Given the description of an element on the screen output the (x, y) to click on. 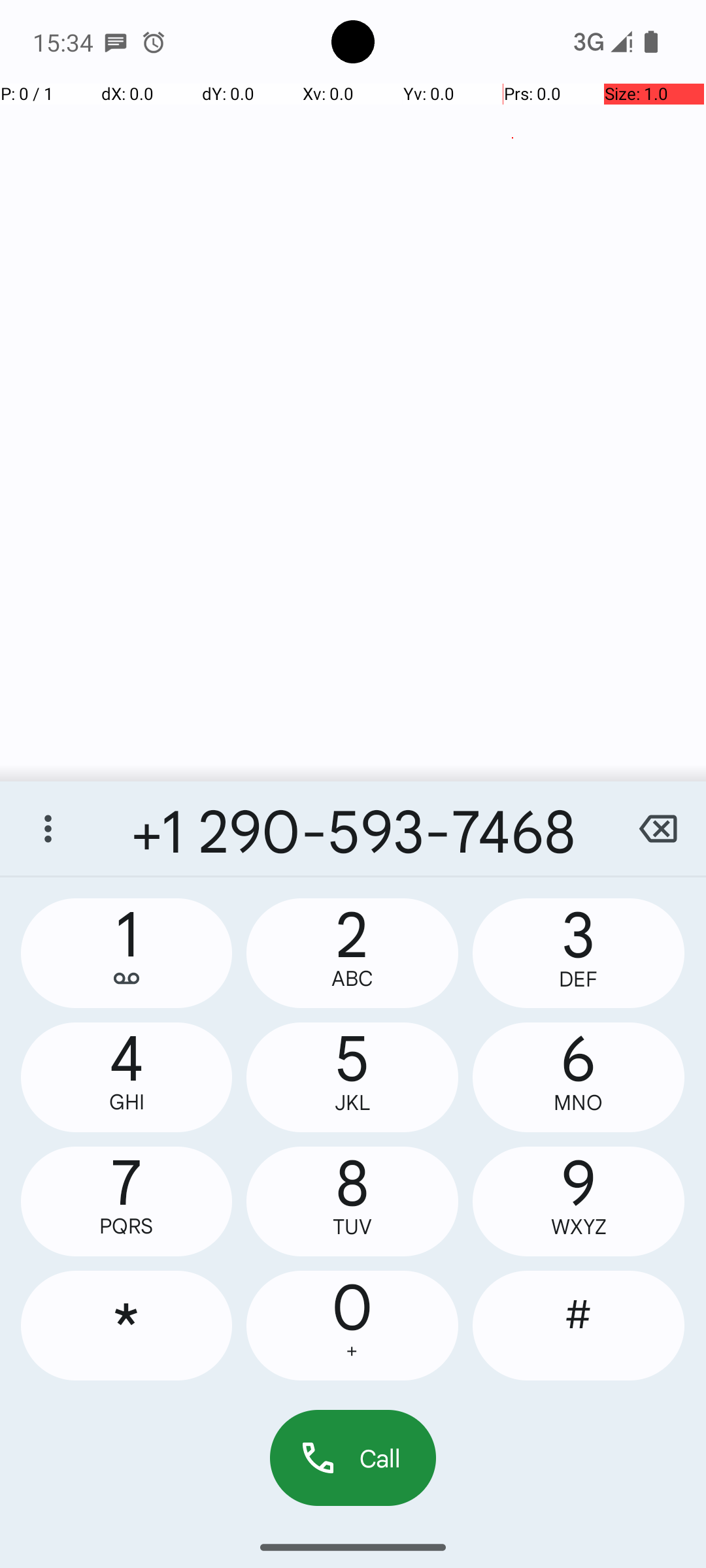
+1 290-593-7468 Element type: android.widget.EditText (352, 828)
